Given the description of an element on the screen output the (x, y) to click on. 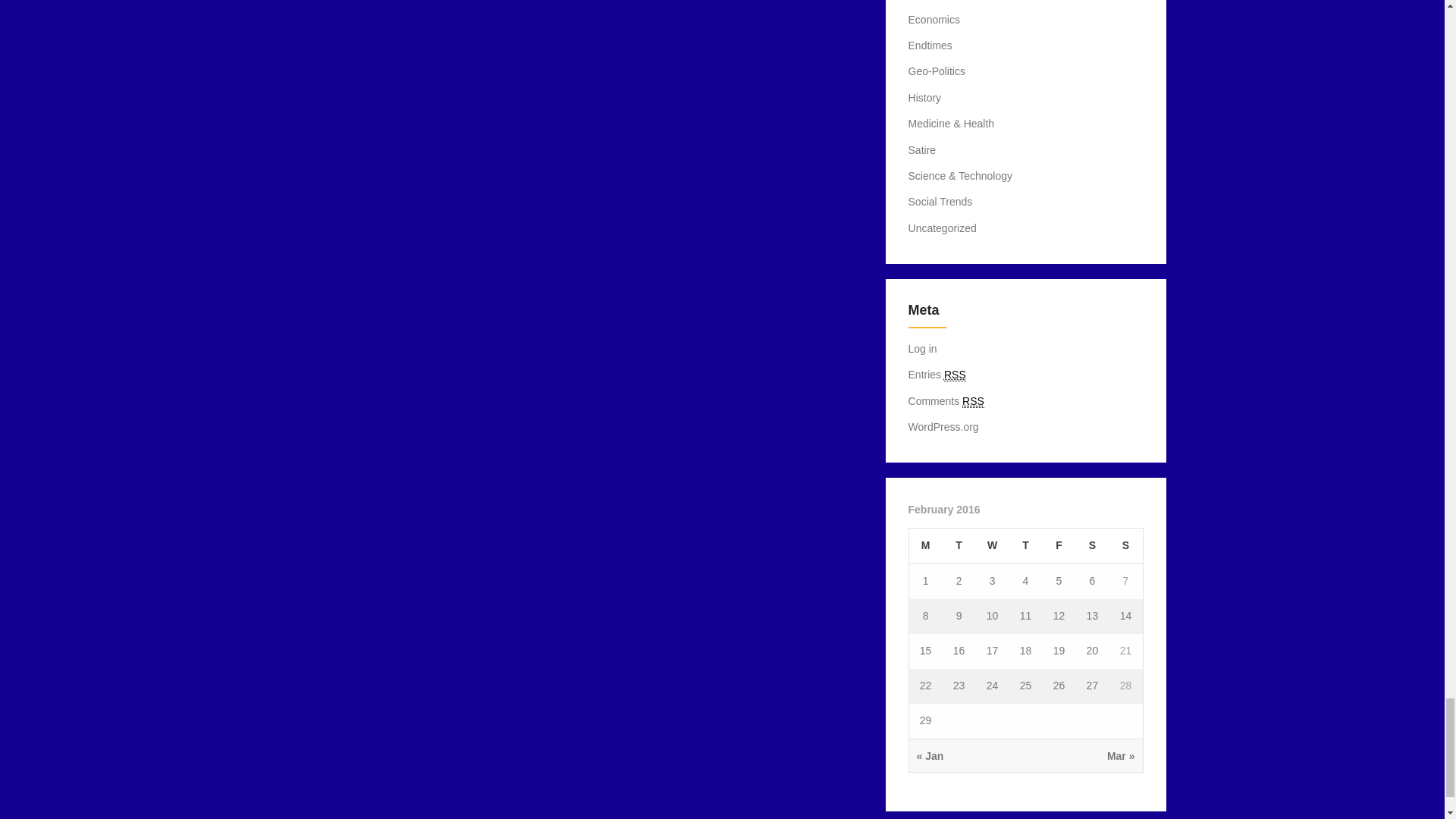
Monday (925, 546)
Really Simple Syndication (973, 400)
Really Simple Syndication (954, 374)
Thursday (1025, 546)
Sunday (1125, 546)
Saturday (1091, 546)
Tuesday (958, 546)
Wednesday (992, 546)
Friday (1058, 546)
